Given the description of an element on the screen output the (x, y) to click on. 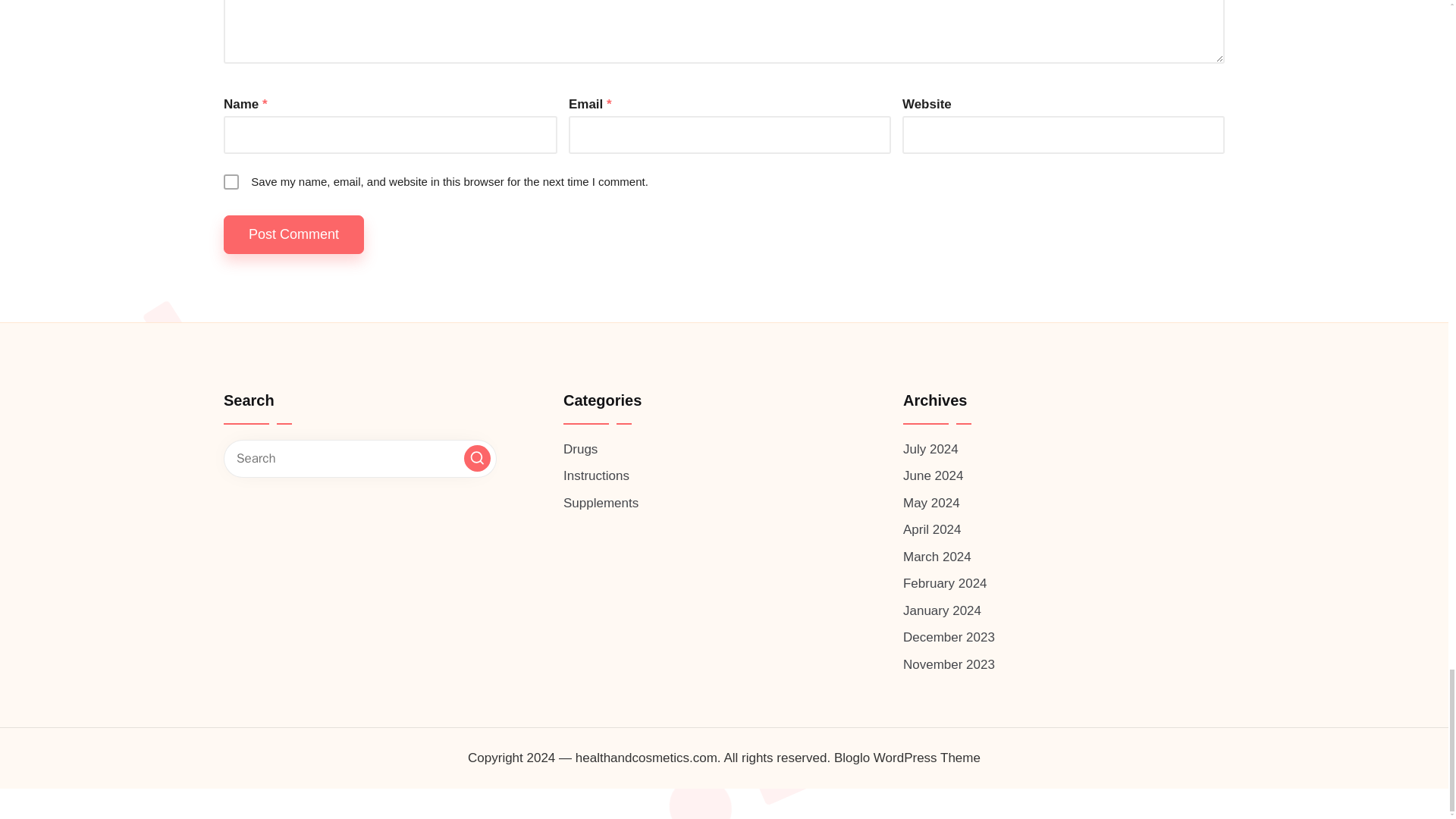
Post Comment (294, 234)
yes (231, 181)
